Given the description of an element on the screen output the (x, y) to click on. 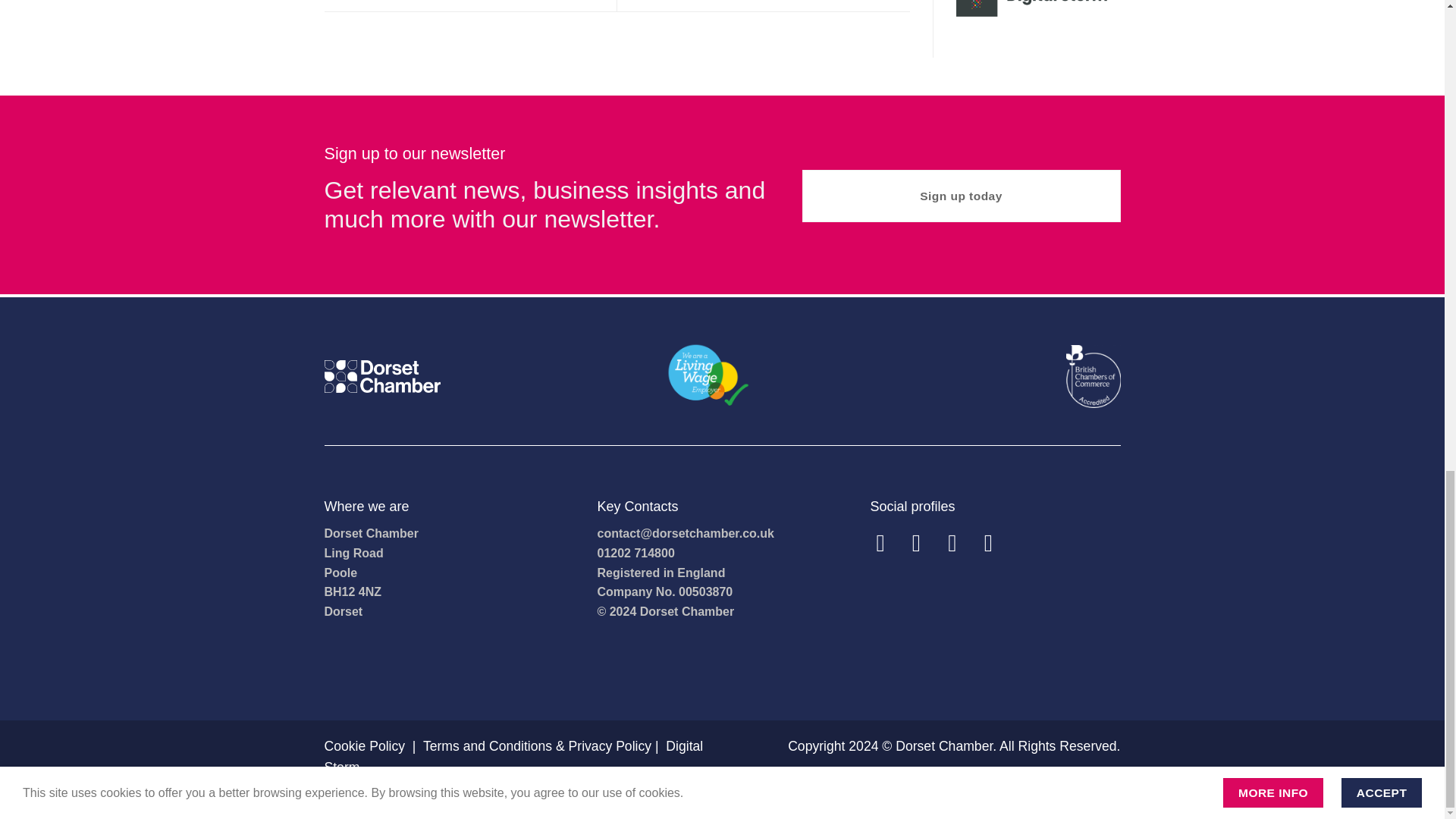
Follow on LinkedIn (996, 542)
Follow on Facebook (887, 542)
Follow on X (959, 542)
Follow on Instagram (924, 542)
